Given the description of an element on the screen output the (x, y) to click on. 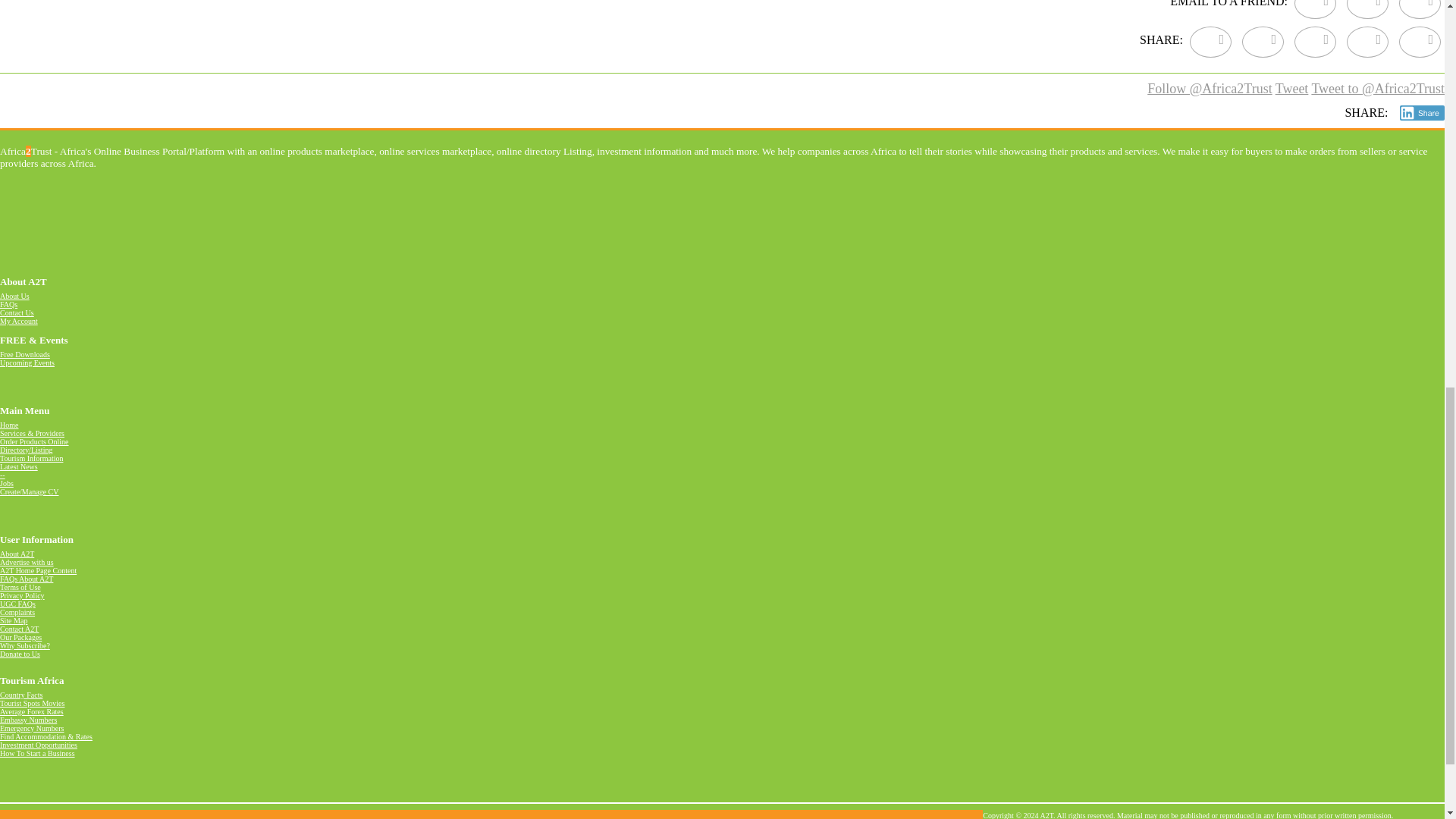
Tweet (1291, 89)
